Given the description of an element on the screen output the (x, y) to click on. 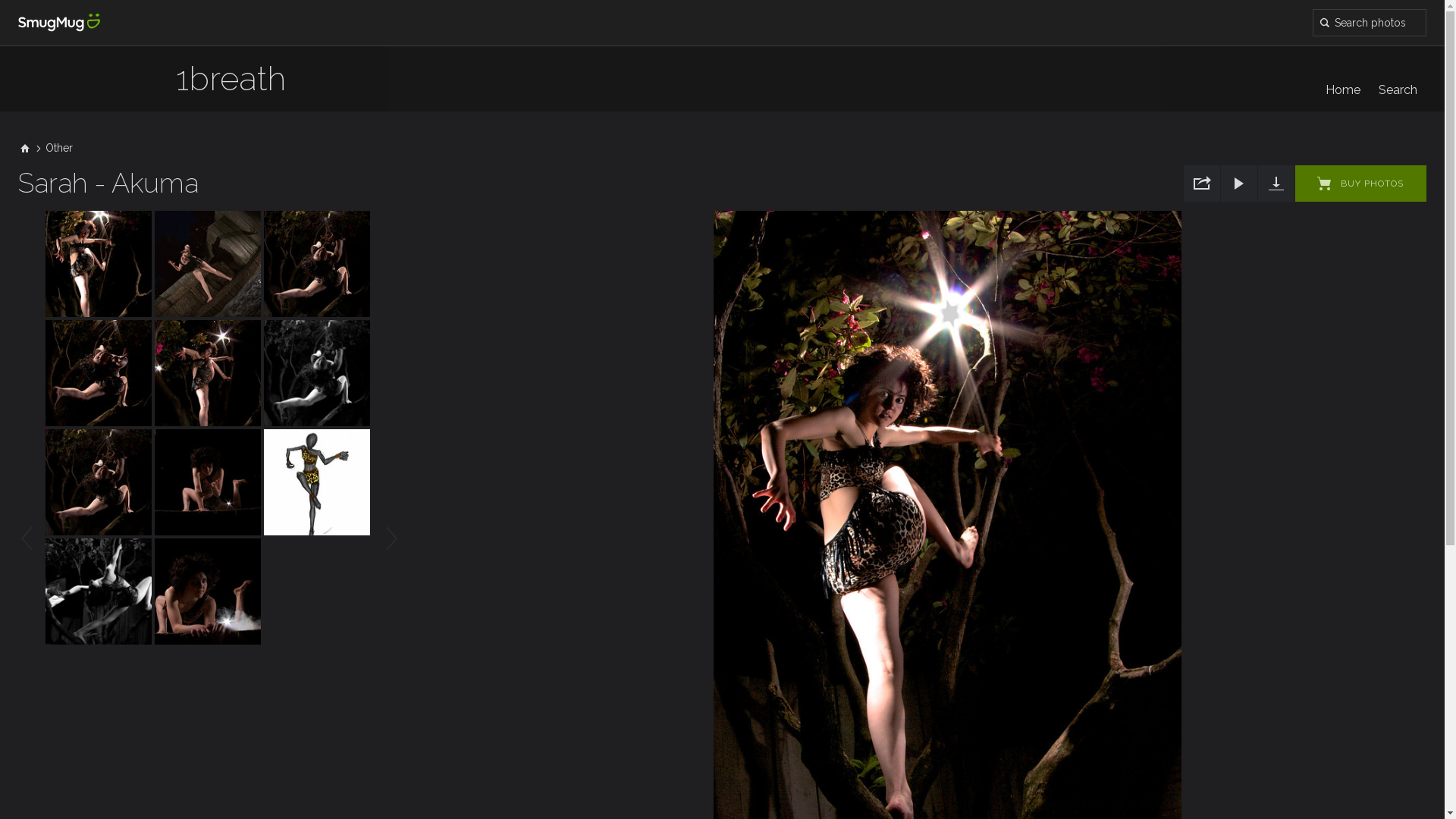
BUY PHOTOS Element type: text (1360, 183)
Search Element type: text (1397, 89)
Other Element type: text (58, 147)
Home Element type: text (1342, 89)
SmugMug Element type: hover (59, 22)
Download All Element type: hover (1276, 183)
Slideshow Element type: hover (1238, 183)
1breath Element type: text (230, 86)
Share Gallery Element type: hover (1201, 183)
Search "Sarah - Akuma" for photos Element type: hover (1369, 22)
